Given the description of an element on the screen output the (x, y) to click on. 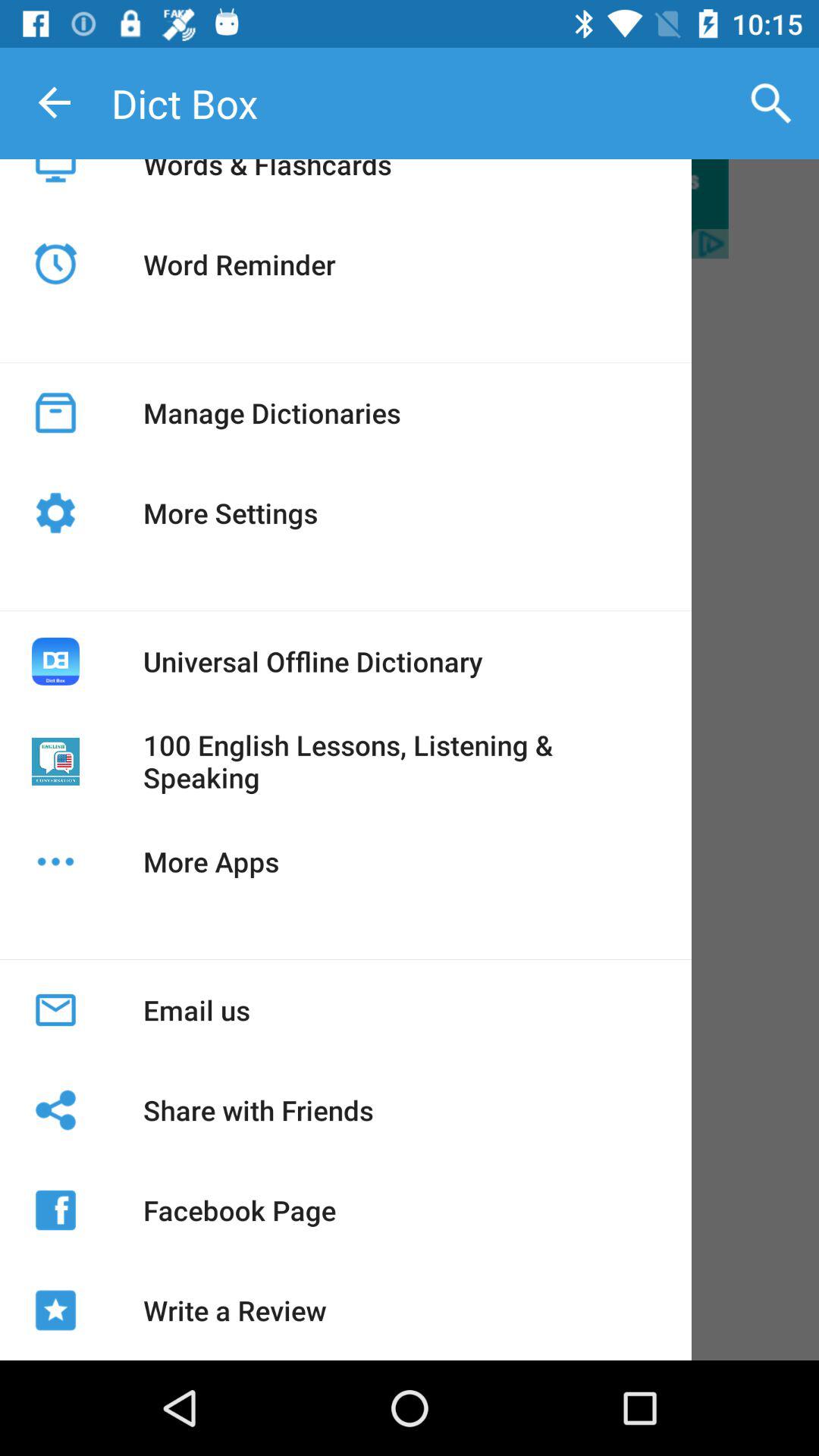
jump to the write a review item (234, 1310)
